Given the description of an element on the screen output the (x, y) to click on. 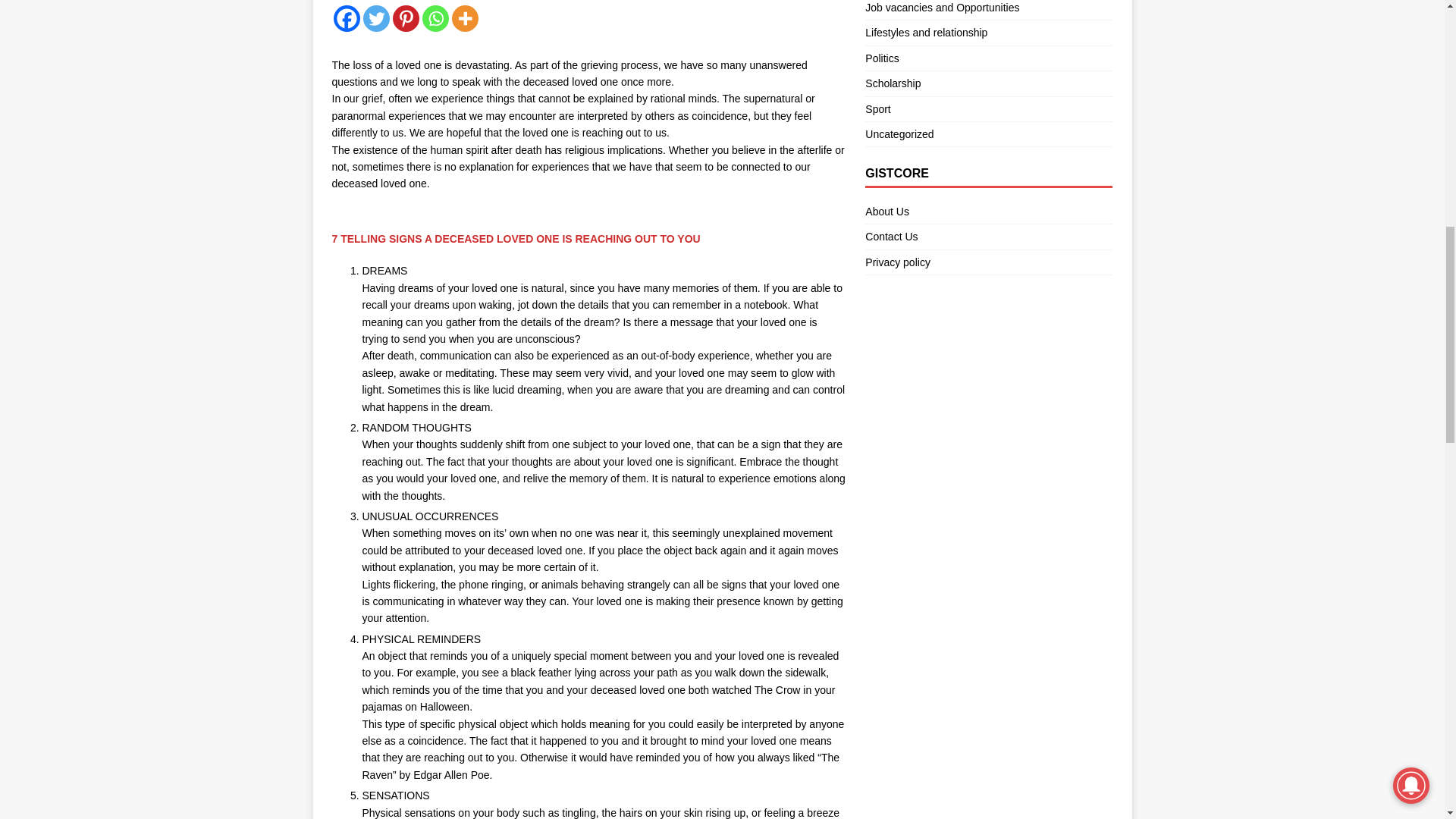
Facebook (346, 17)
Pinterest (406, 17)
More (465, 17)
Whatsapp (435, 17)
Twitter (375, 17)
